Given the description of an element on the screen output the (x, y) to click on. 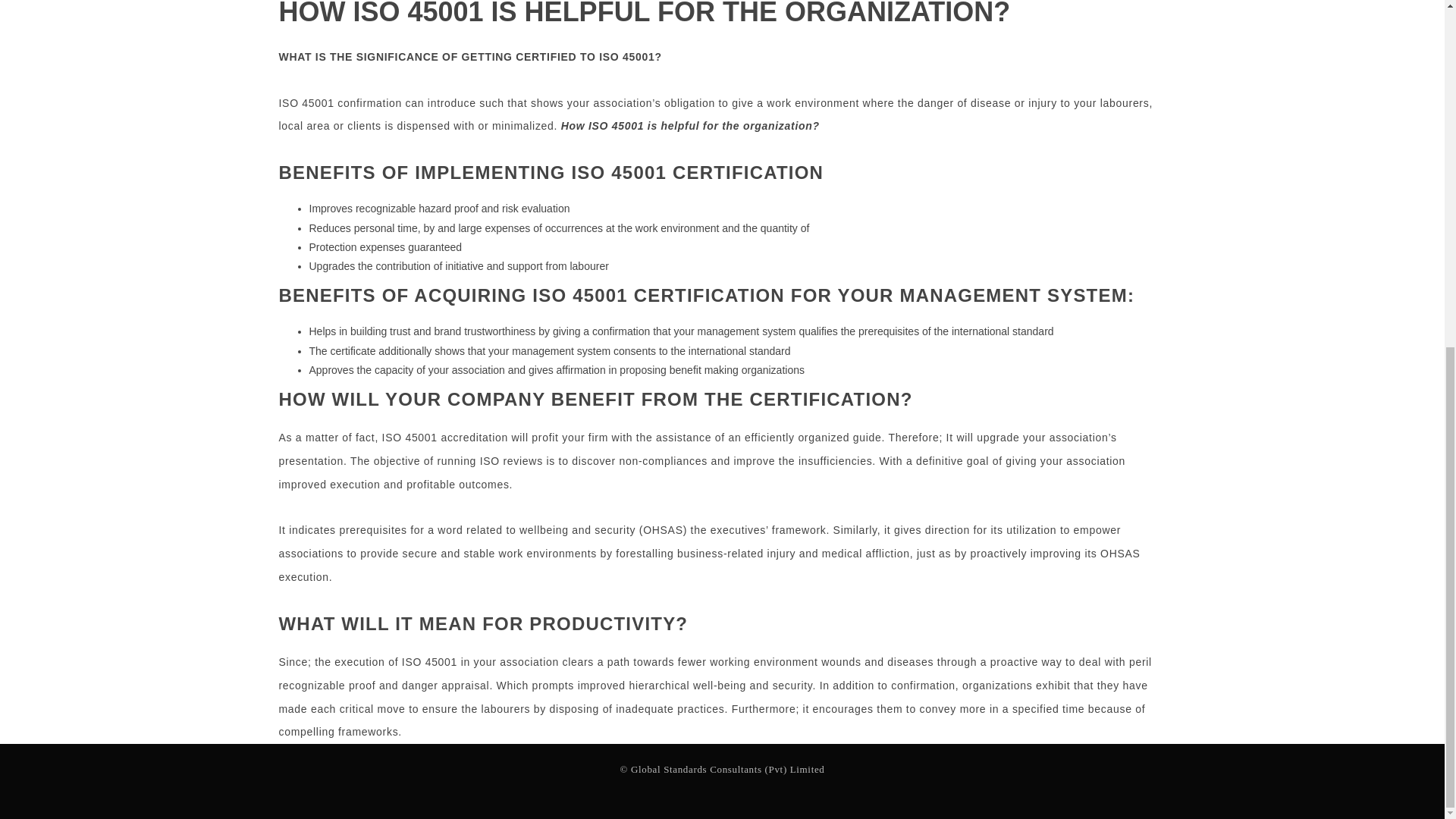
ISO 45001 (409, 437)
OHSAS (662, 530)
